Given the description of an element on the screen output the (x, y) to click on. 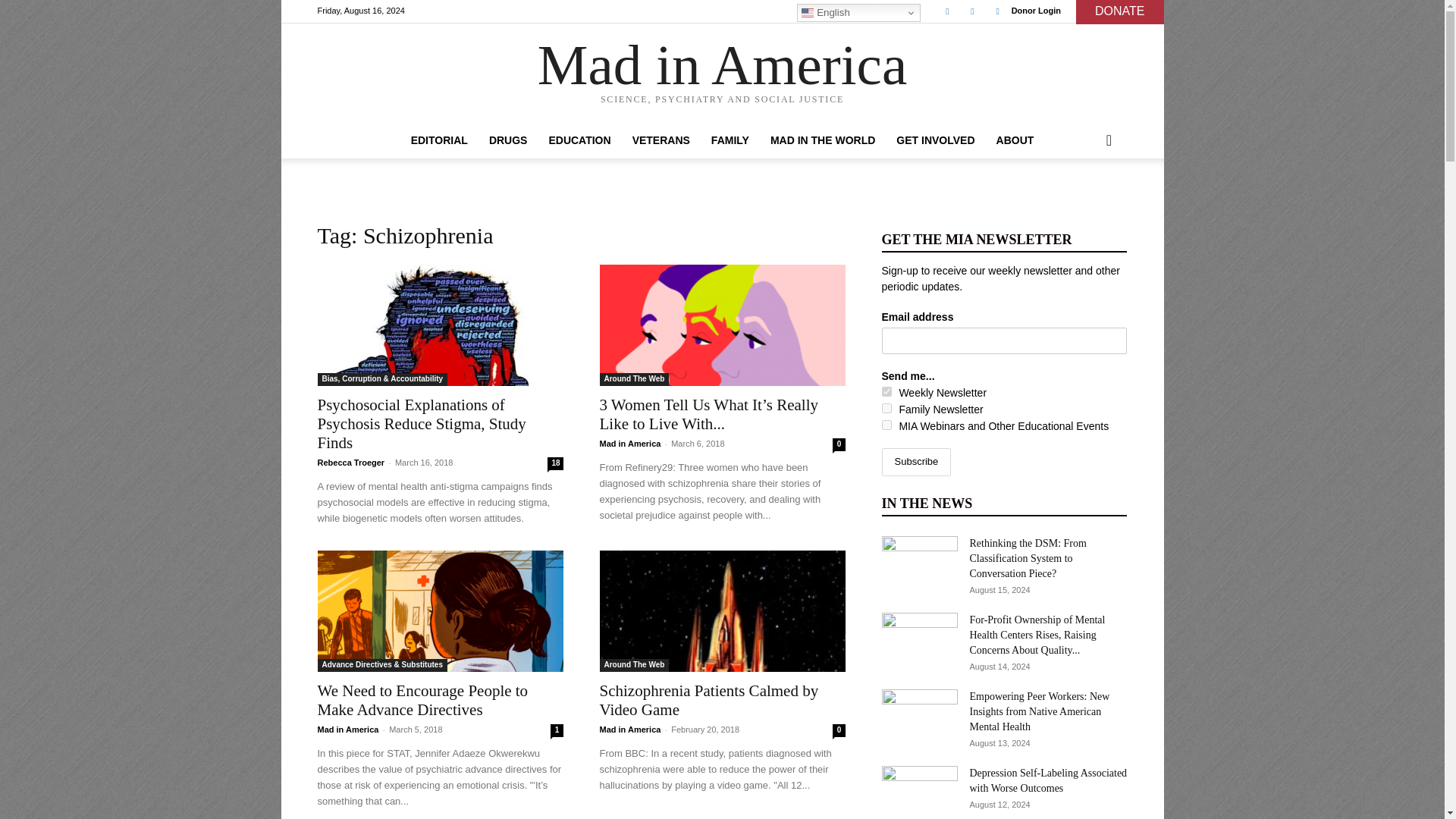
a8b577bac2 (885, 391)
59a3706891 (885, 424)
Youtube (998, 10)
Subscribe (915, 461)
64ec82b4cd (885, 408)
Facebook (947, 10)
Twitter (972, 10)
